Given the description of an element on the screen output the (x, y) to click on. 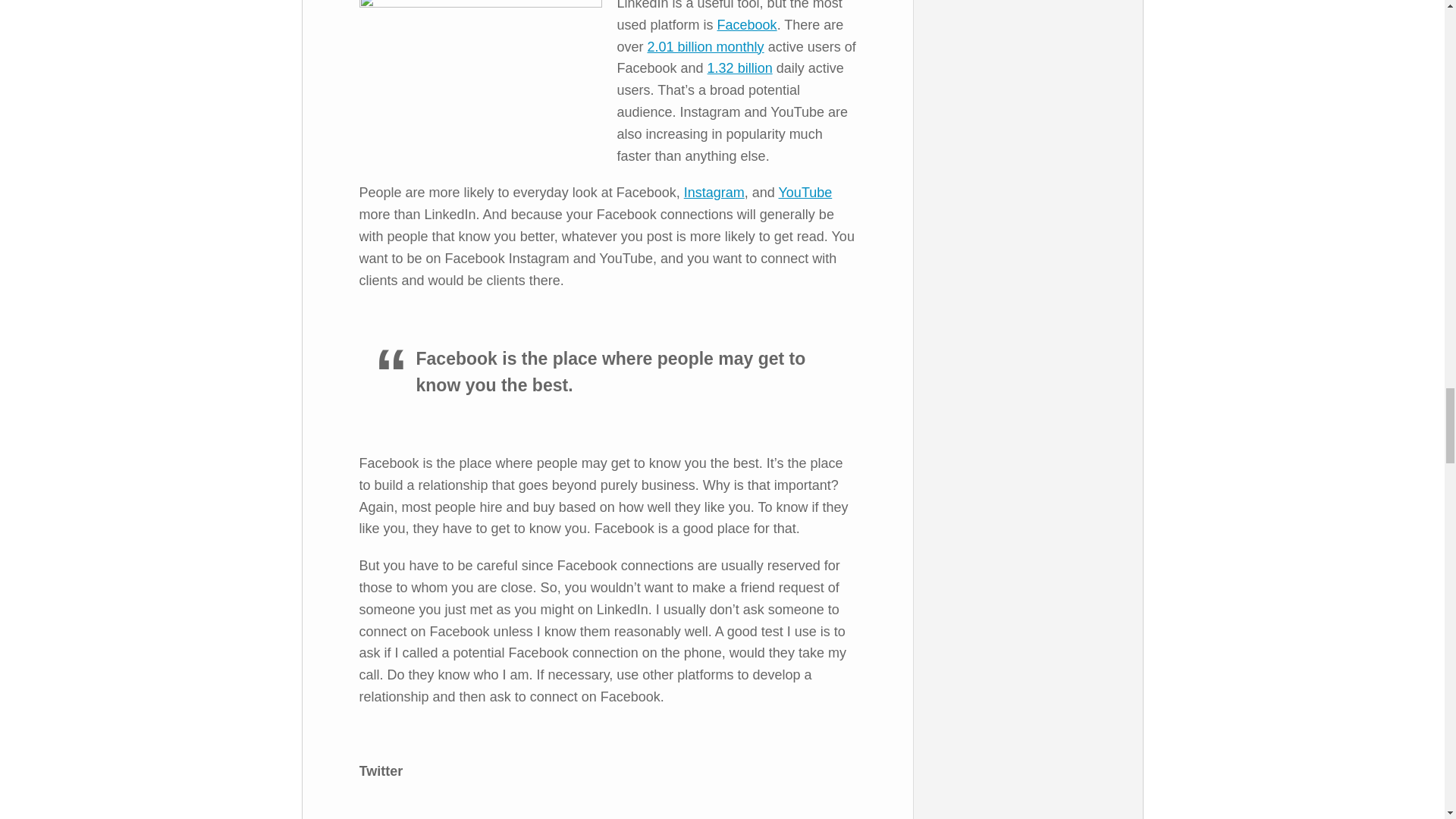
YouTube (804, 192)
Instagram (714, 192)
1.32 billion (740, 68)
2.01 billion monthly (705, 46)
Facebook (747, 24)
